Given the description of an element on the screen output the (x, y) to click on. 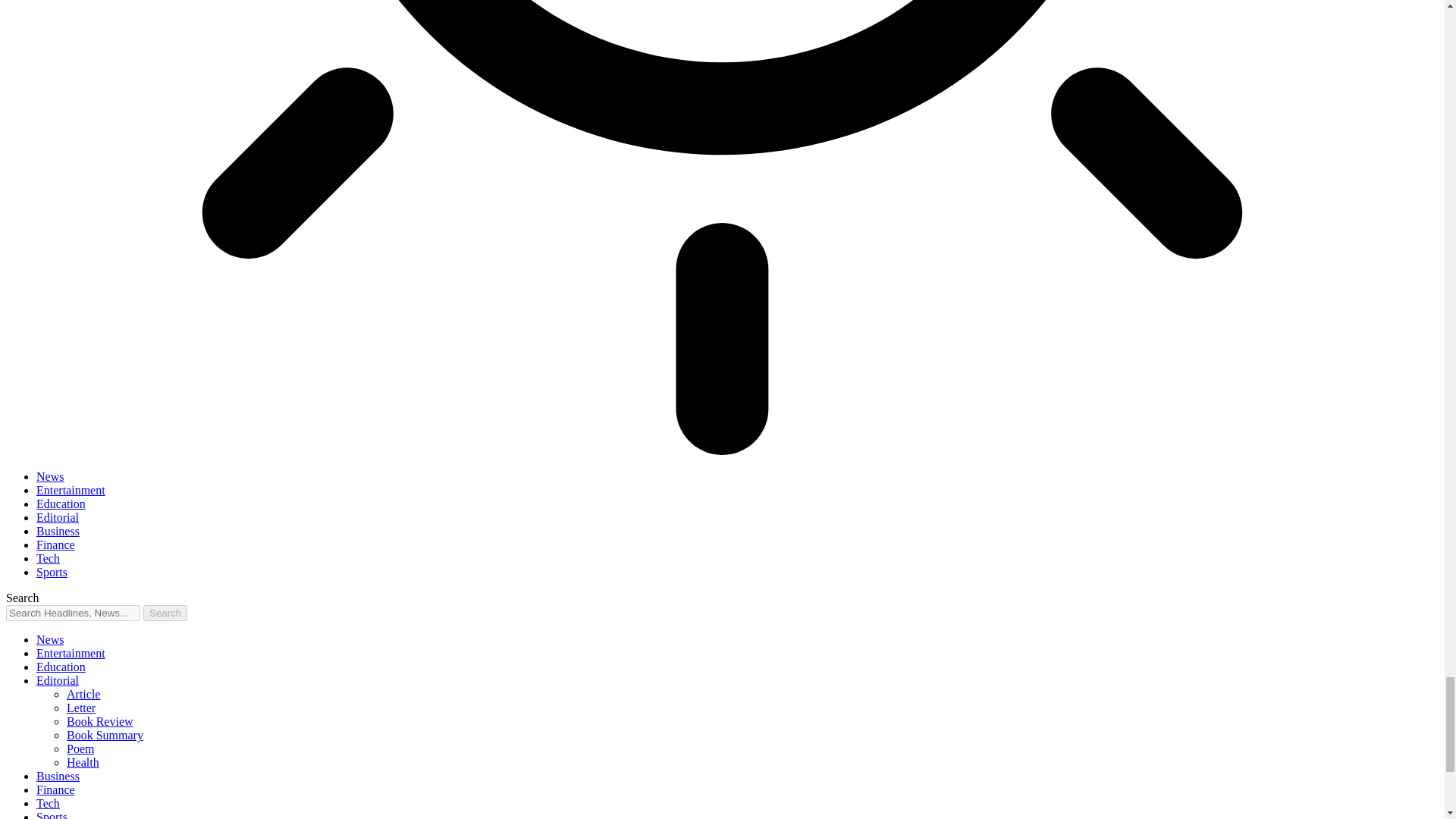
Search (164, 612)
News (50, 476)
Sports (51, 571)
Business (58, 530)
Editorial (57, 517)
Tech (47, 558)
News (50, 639)
Editorial (57, 680)
Education (60, 666)
Entertainment (70, 653)
Finance (55, 544)
Search (164, 612)
Education (60, 503)
Entertainment (70, 490)
